Given the description of an element on the screen output the (x, y) to click on. 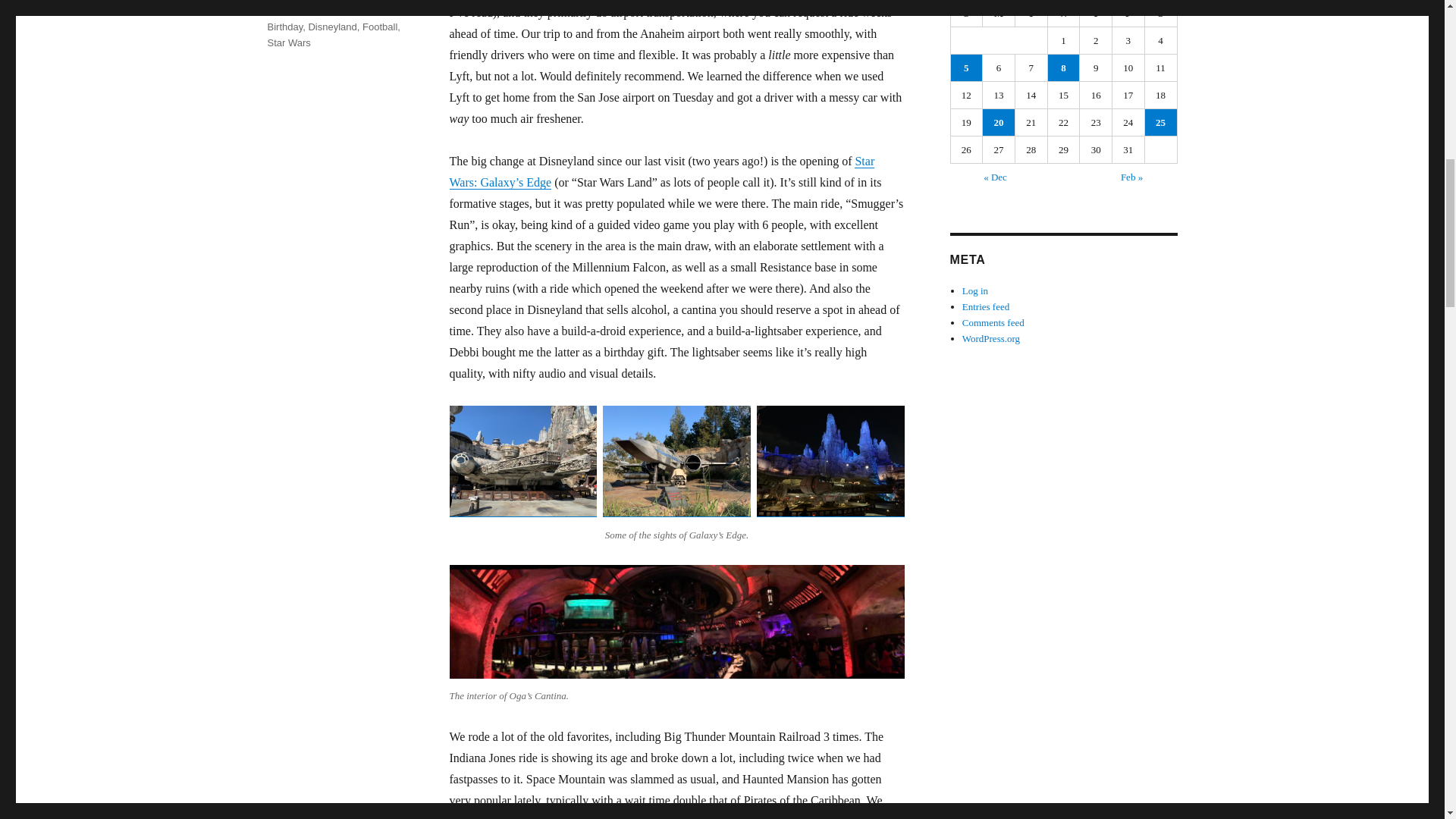
Birthday (284, 26)
8 (1064, 67)
Thursday (1096, 13)
Wednesday (1064, 13)
Star Wars (288, 42)
Vacation (285, 5)
Friday (1128, 13)
Tuesday (1031, 13)
20 (998, 121)
5 (966, 67)
25 (1160, 121)
Football (379, 26)
Sunday (967, 13)
Saturday (1160, 13)
Monday (998, 13)
